Given the description of an element on the screen output the (x, y) to click on. 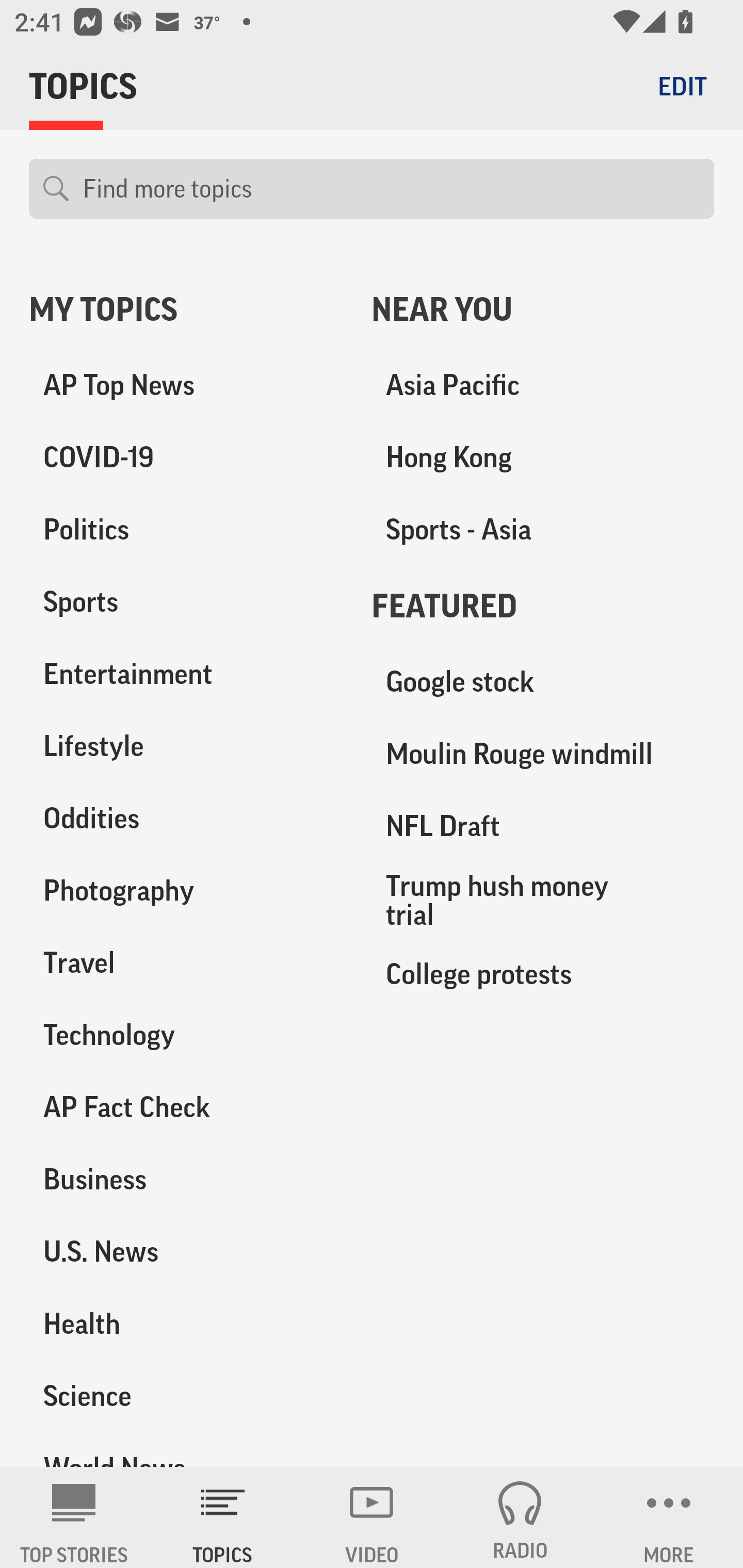
EDIT (682, 86)
Find more topics (391, 188)
AP Top News (185, 385)
Asia Pacific (542, 385)
COVID-19 (185, 457)
Hong Kong (542, 457)
Politics (185, 529)
Sports - Asia (542, 529)
Sports (185, 602)
Entertainment (185, 674)
Google stock (542, 682)
Lifestyle (185, 746)
Moulin Rouge windmill (542, 754)
Oddities (185, 818)
NFL Draft (542, 826)
Photography (185, 890)
Trump hush money trial (542, 899)
Travel (185, 962)
College protests (542, 973)
Technology (185, 1034)
AP Fact Check (185, 1106)
Business (185, 1179)
U.S. News (185, 1251)
Health (185, 1323)
Science (185, 1395)
AP News TOP STORIES (74, 1517)
TOPICS (222, 1517)
VIDEO (371, 1517)
RADIO (519, 1517)
MORE (668, 1517)
